Given the description of an element on the screen output the (x, y) to click on. 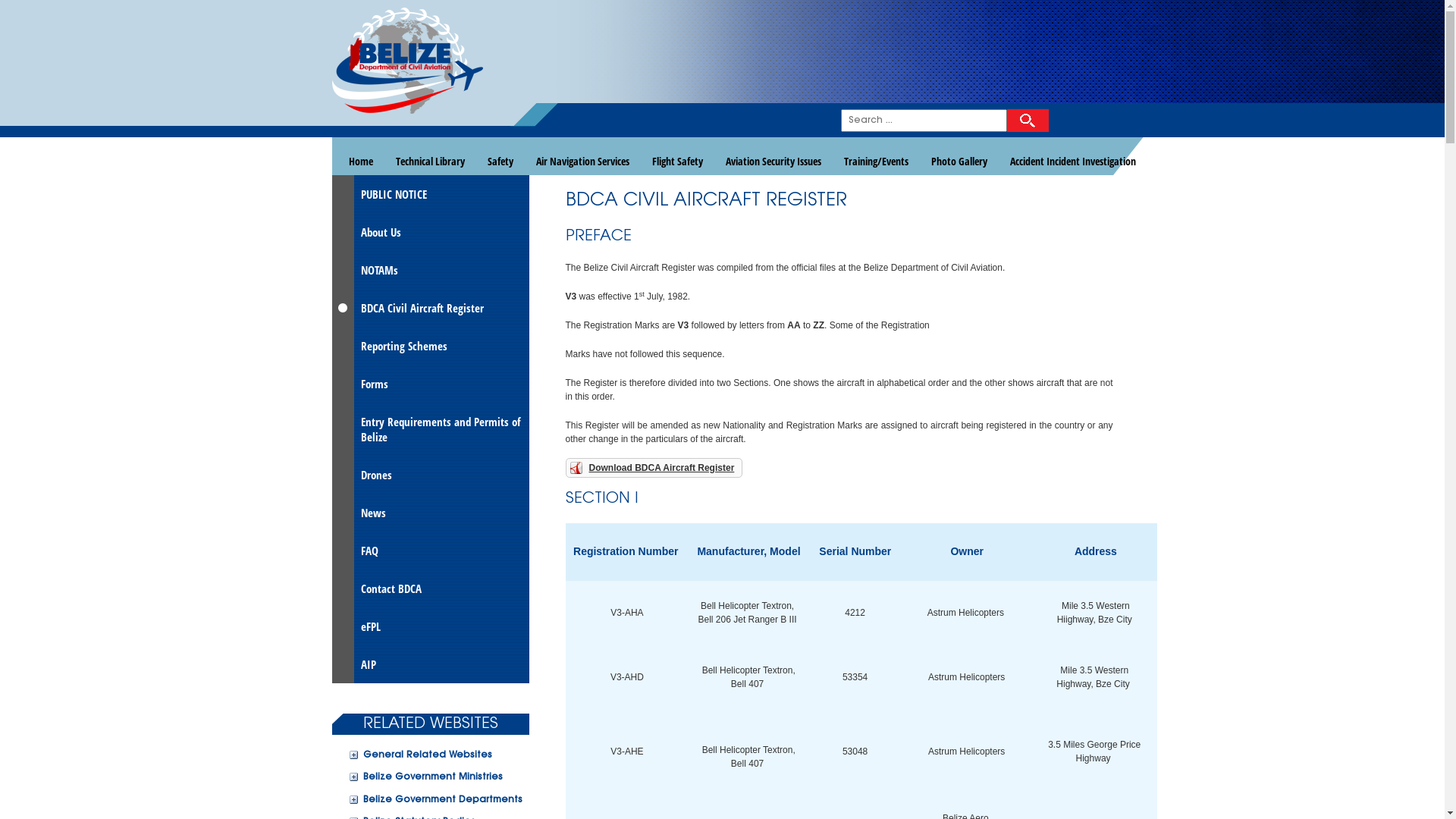
Flight Safety Element type: text (676, 160)
News Element type: text (430, 512)
Contact BDCA Element type: text (430, 588)
Reporting Schemes Element type: text (430, 345)
Accident Incident Investigation Element type: text (1071, 160)
FAQ Element type: text (430, 550)
PUBLIC NOTICE Element type: text (430, 194)
eFPL Element type: text (430, 626)
Aviation Security Issues Element type: text (773, 160)
Safety Element type: text (500, 160)
Drones Element type: text (430, 474)
Home Element type: text (359, 160)
Download BDCA Aircraft Register Element type: text (654, 467)
Technical Library Element type: text (429, 160)
Training/Events Element type: text (875, 160)
BDCA Civil Aircraft Register Element type: text (430, 307)
AIP Element type: text (430, 664)
About Us Element type: text (430, 232)
Air Navigation Services Element type: text (582, 160)
Photo Gallery Element type: text (958, 160)
Forms Element type: text (430, 383)
Entry Requirements and Permits of Belize Element type: text (430, 428)
NOTAMs Element type: text (430, 269)
